Given the description of an element on the screen output the (x, y) to click on. 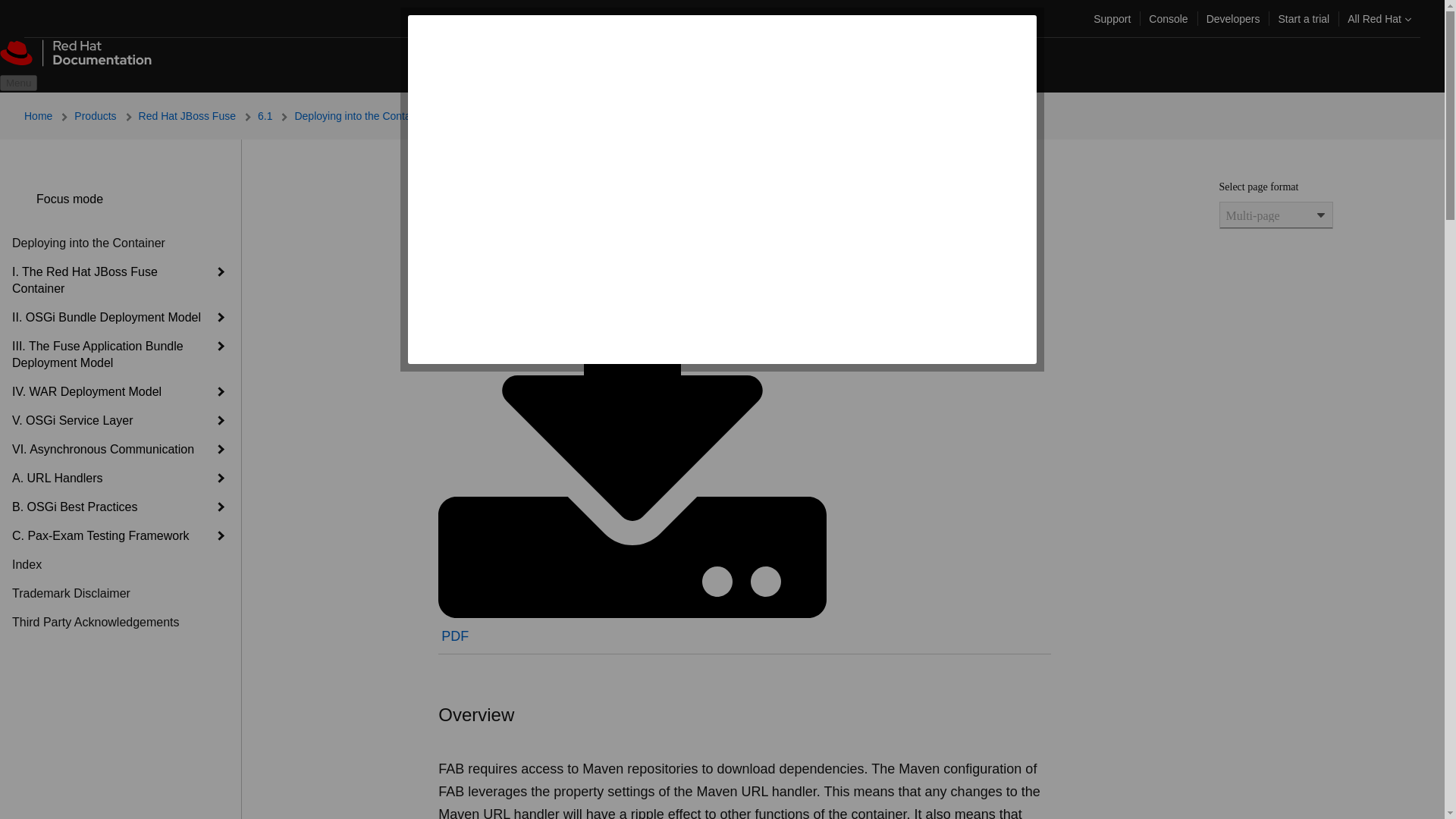
toggle focus mode (23, 199)
Developers (1232, 18)
Start a trial (1303, 18)
Deploying into the Container (371, 115)
6.1 (275, 115)
All Red Hat (1379, 18)
Support (1112, 18)
Console (1168, 18)
